Given the description of an element on the screen output the (x, y) to click on. 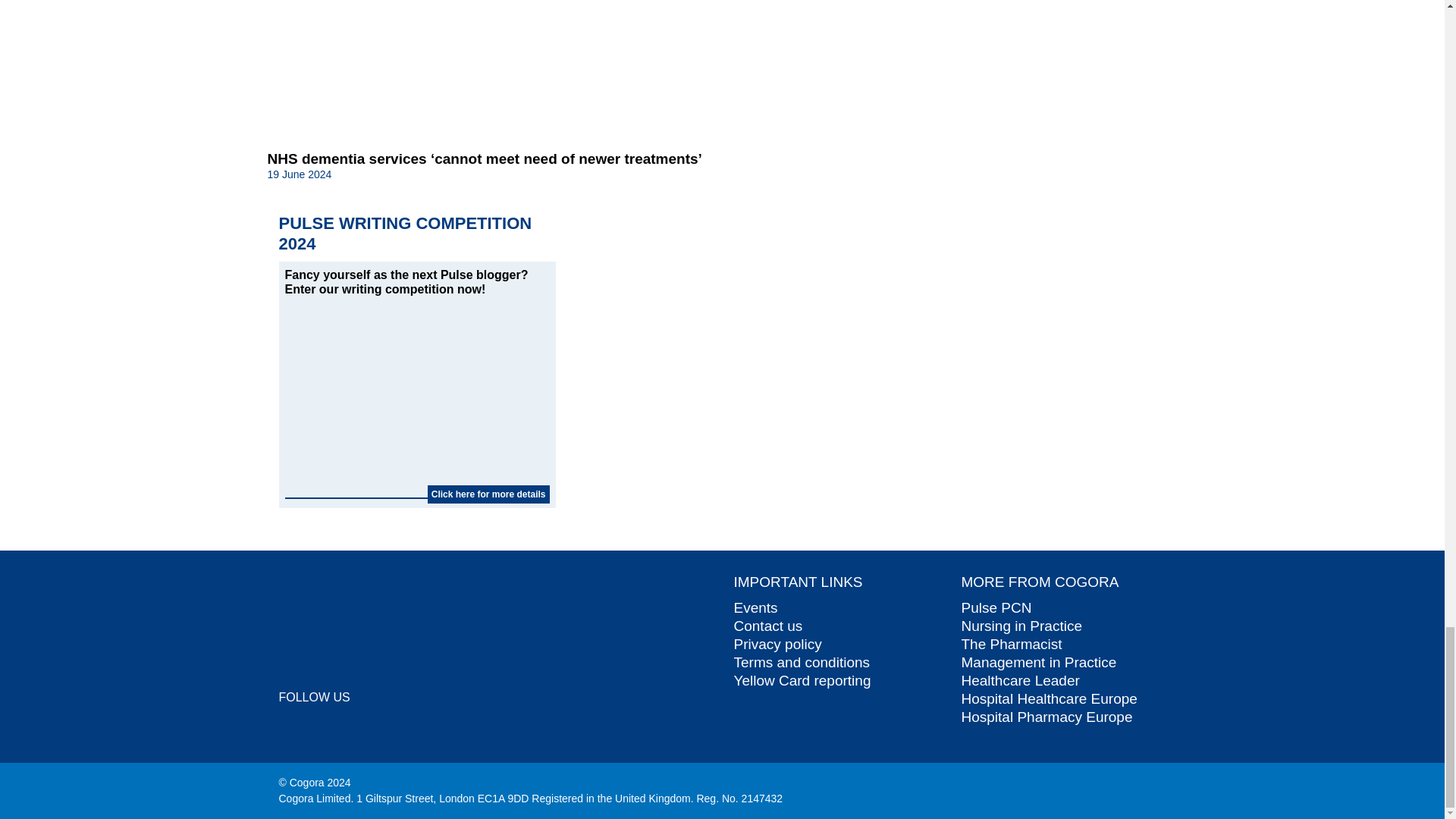
Privacy policy (777, 643)
Yellow Card reporting (801, 680)
Contact us (768, 625)
Events (755, 607)
Terms and conditions (801, 662)
